Given the description of an element on the screen output the (x, y) to click on. 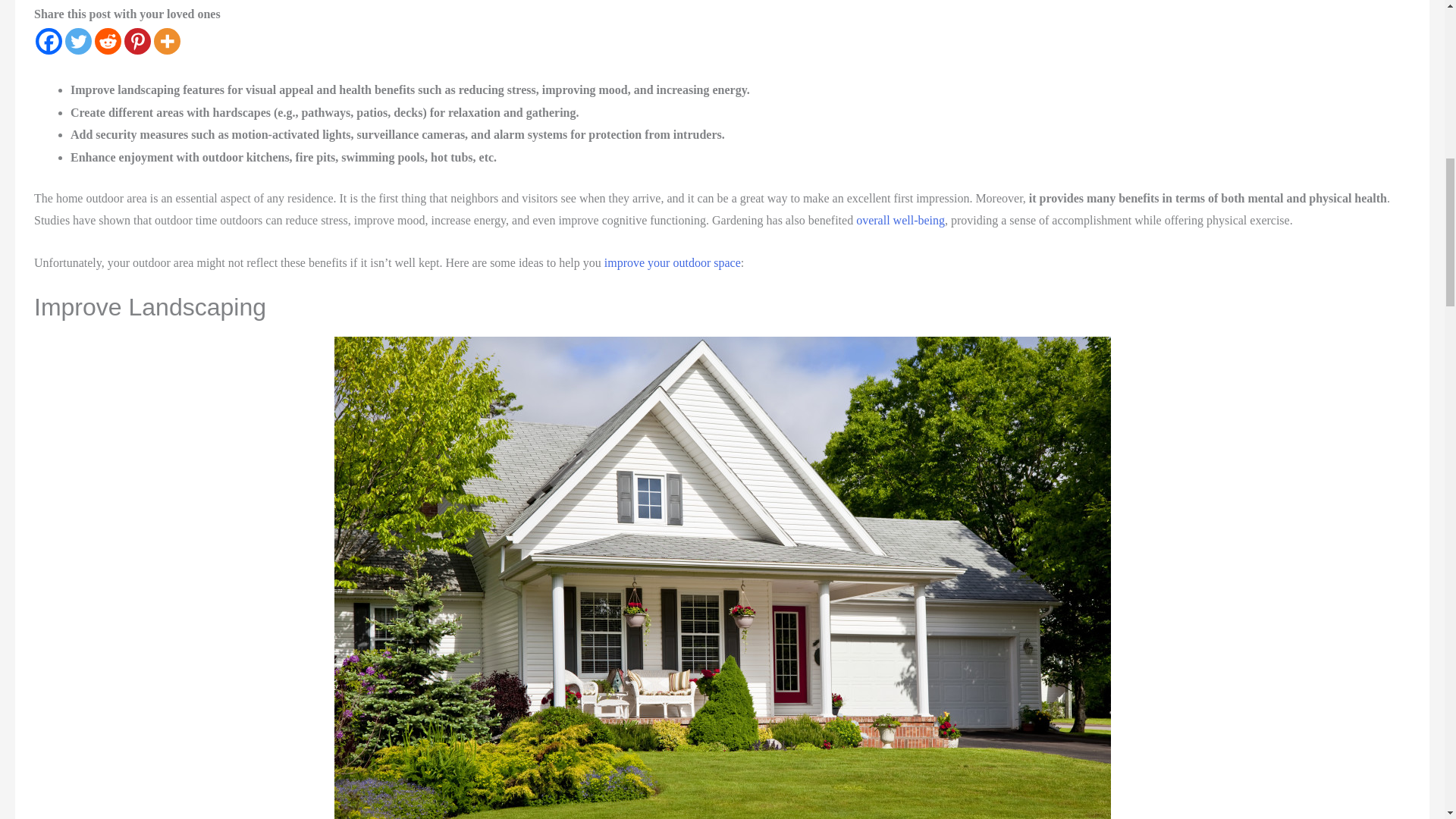
Facebook (48, 40)
overall well-being (900, 219)
Twitter (78, 40)
improve your outdoor space (672, 262)
Pinterest (137, 40)
Reddit (107, 40)
More (167, 40)
